Given the description of an element on the screen output the (x, y) to click on. 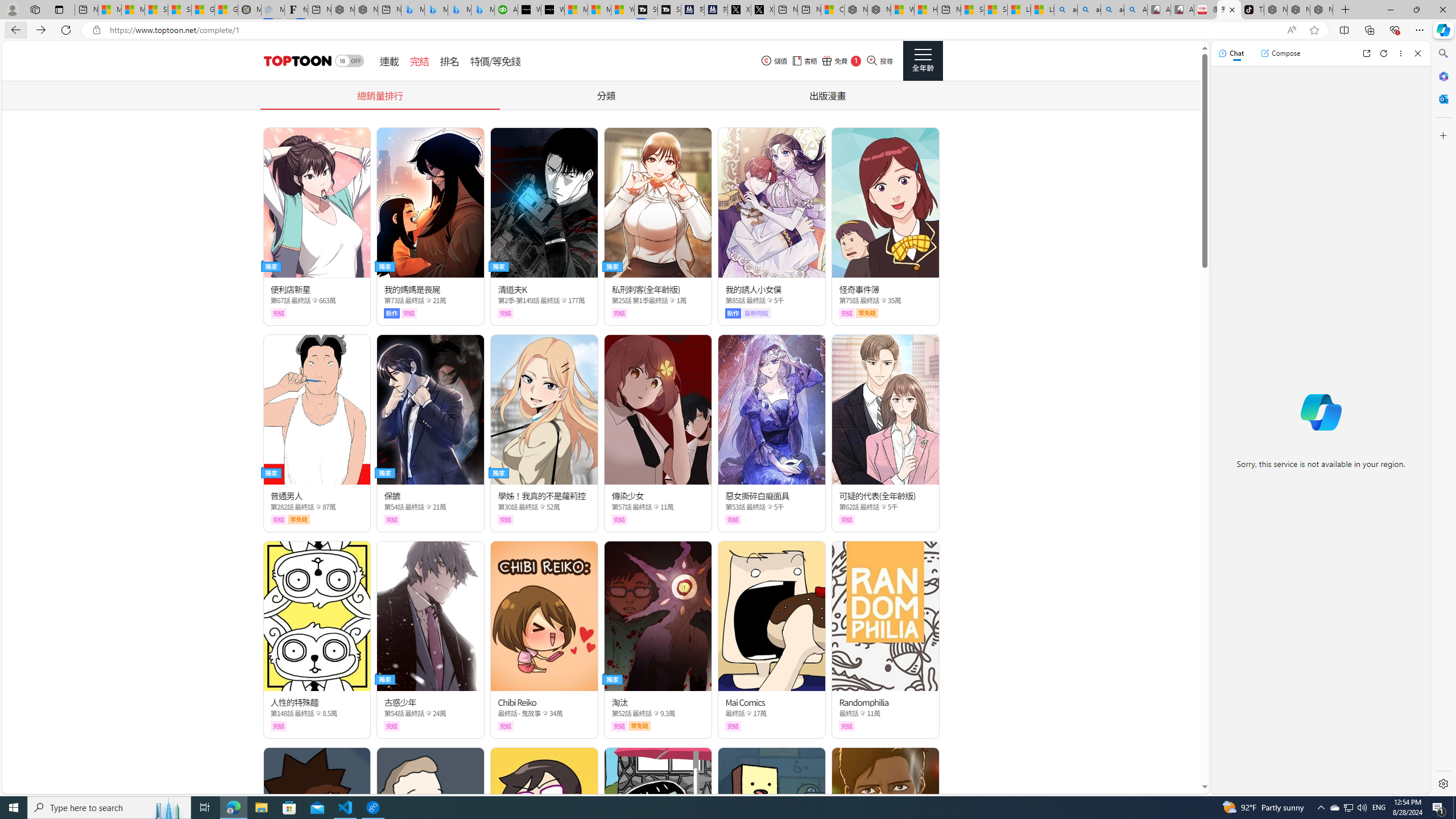
amazon - Search (1089, 9)
Compose (1280, 52)
